Given the description of an element on the screen output the (x, y) to click on. 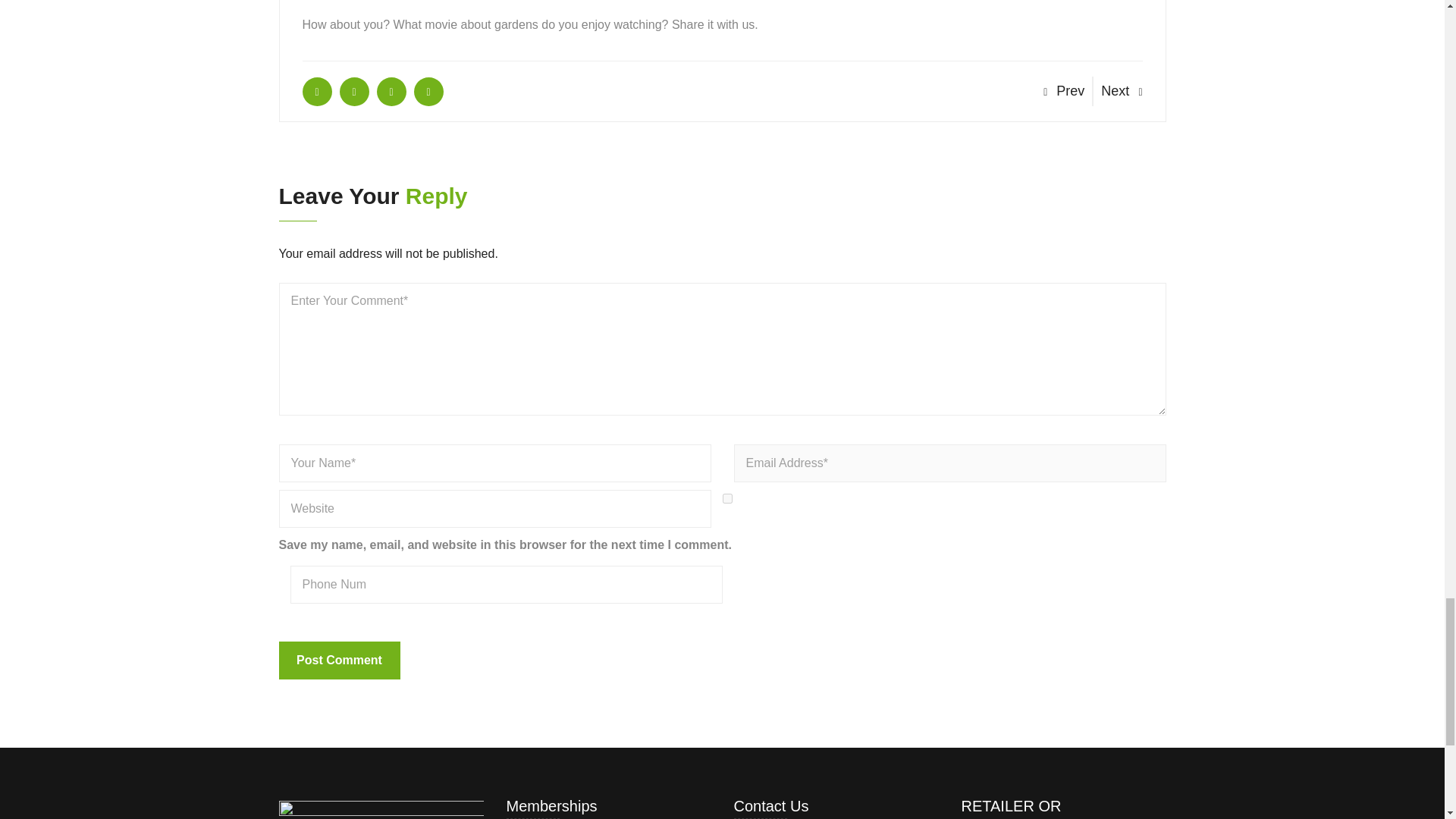
Post Comment (339, 660)
4 Popular Movies Every Gardener Should Watch (316, 91)
yes (727, 498)
